Given the description of an element on the screen output the (x, y) to click on. 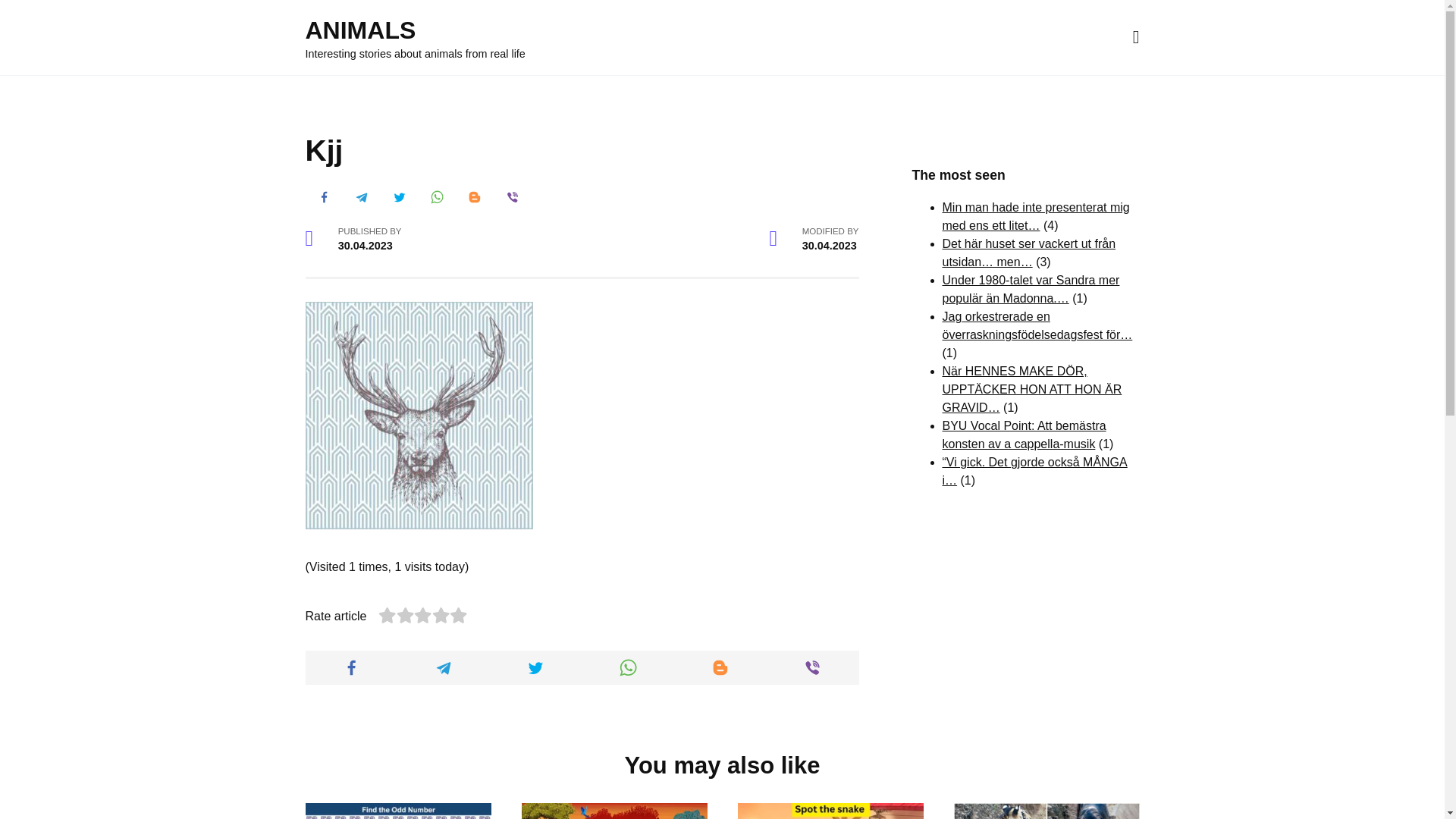
ANIMALS (359, 30)
